Given the description of an element on the screen output the (x, y) to click on. 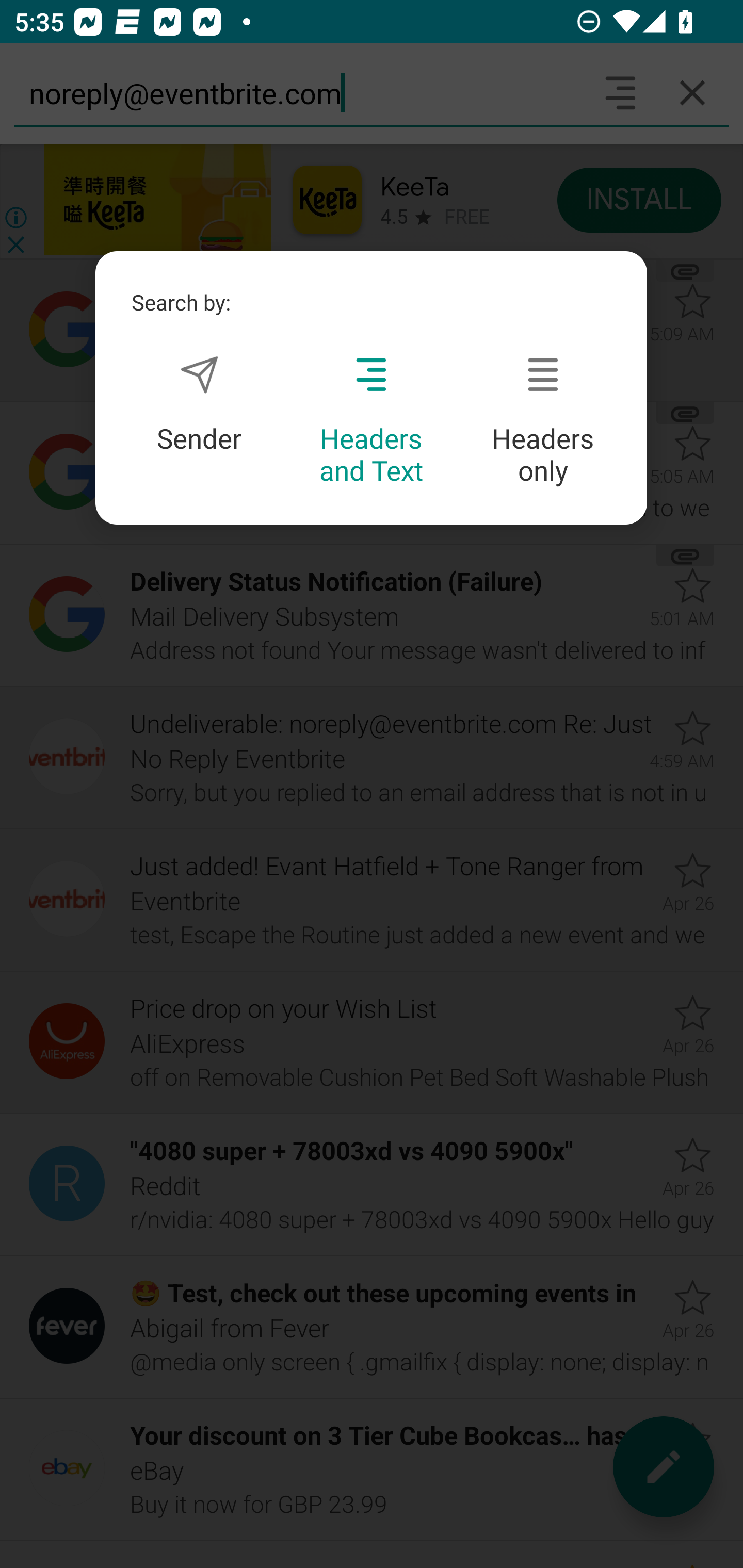
Sender (199, 404)
Headers and Text (371, 420)
Headers only (542, 420)
